Given the description of an element on the screen output the (x, y) to click on. 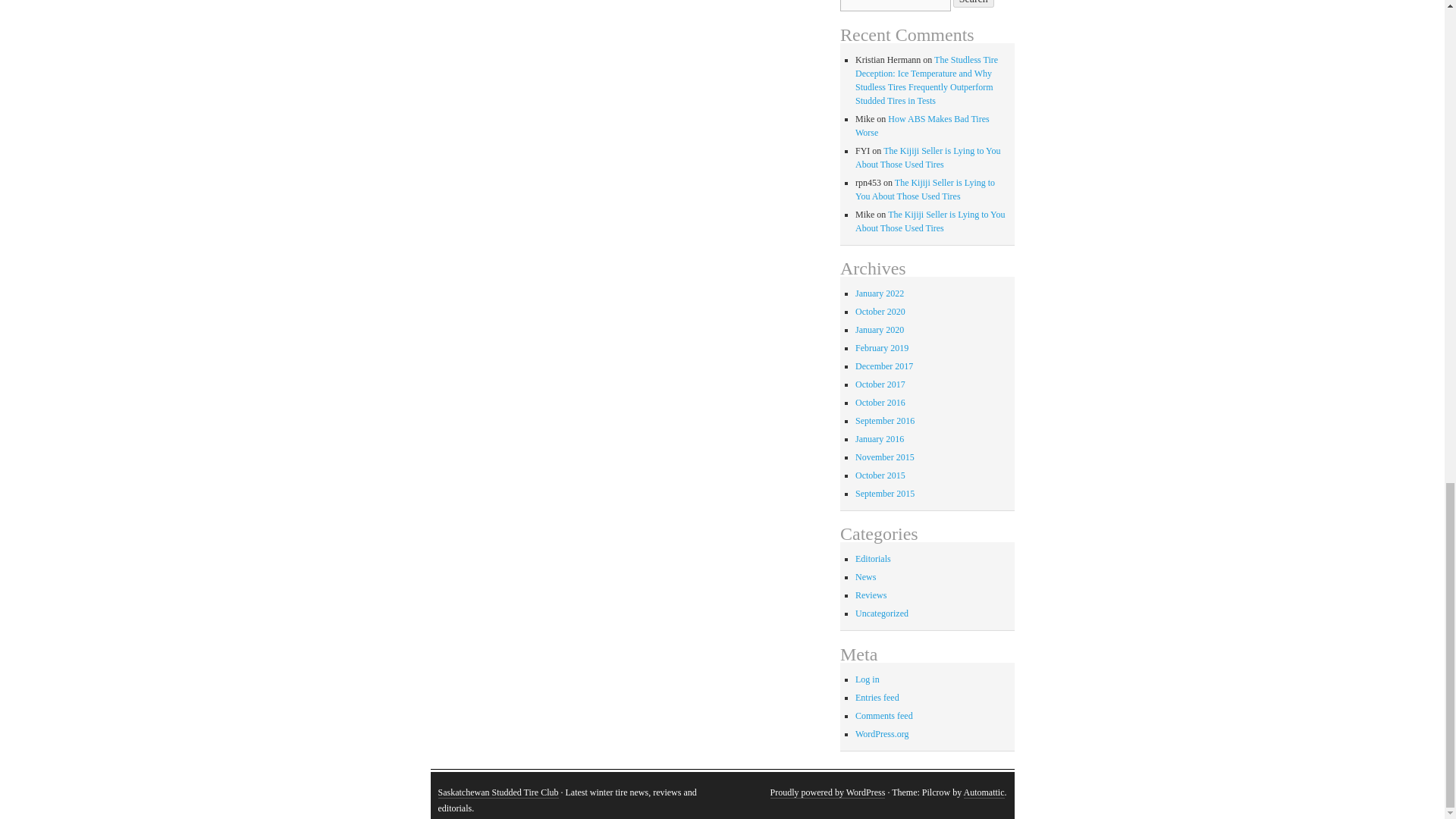
Saskatchewan Studded Tire Club (498, 792)
A Semantic Personal Publishing Platform (827, 792)
Search (973, 3)
